Given the description of an element on the screen output the (x, y) to click on. 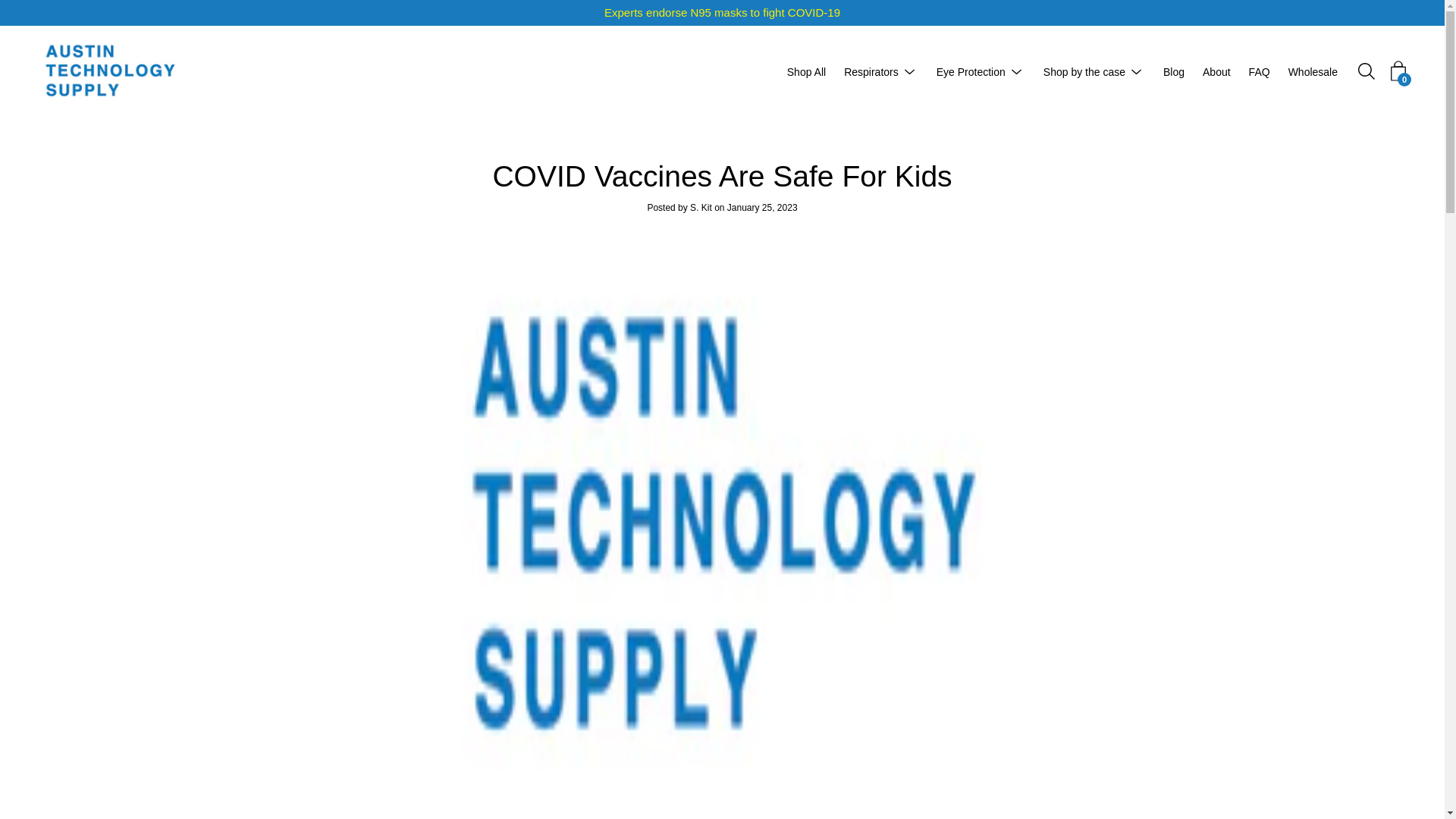
Respirators (871, 71)
Show submenu (1016, 71)
Blog (1174, 71)
Experts endorse N95 masks to fight COVID-19 (721, 13)
About (1216, 71)
Eye Protection (971, 71)
0 (1398, 71)
FAQ (1259, 71)
Shop by the case (1084, 71)
Wholesale (1313, 71)
Open search bar (1366, 71)
Show submenu (1136, 71)
Show submenu (909, 71)
Shop All (806, 71)
